Given the description of an element on the screen output the (x, y) to click on. 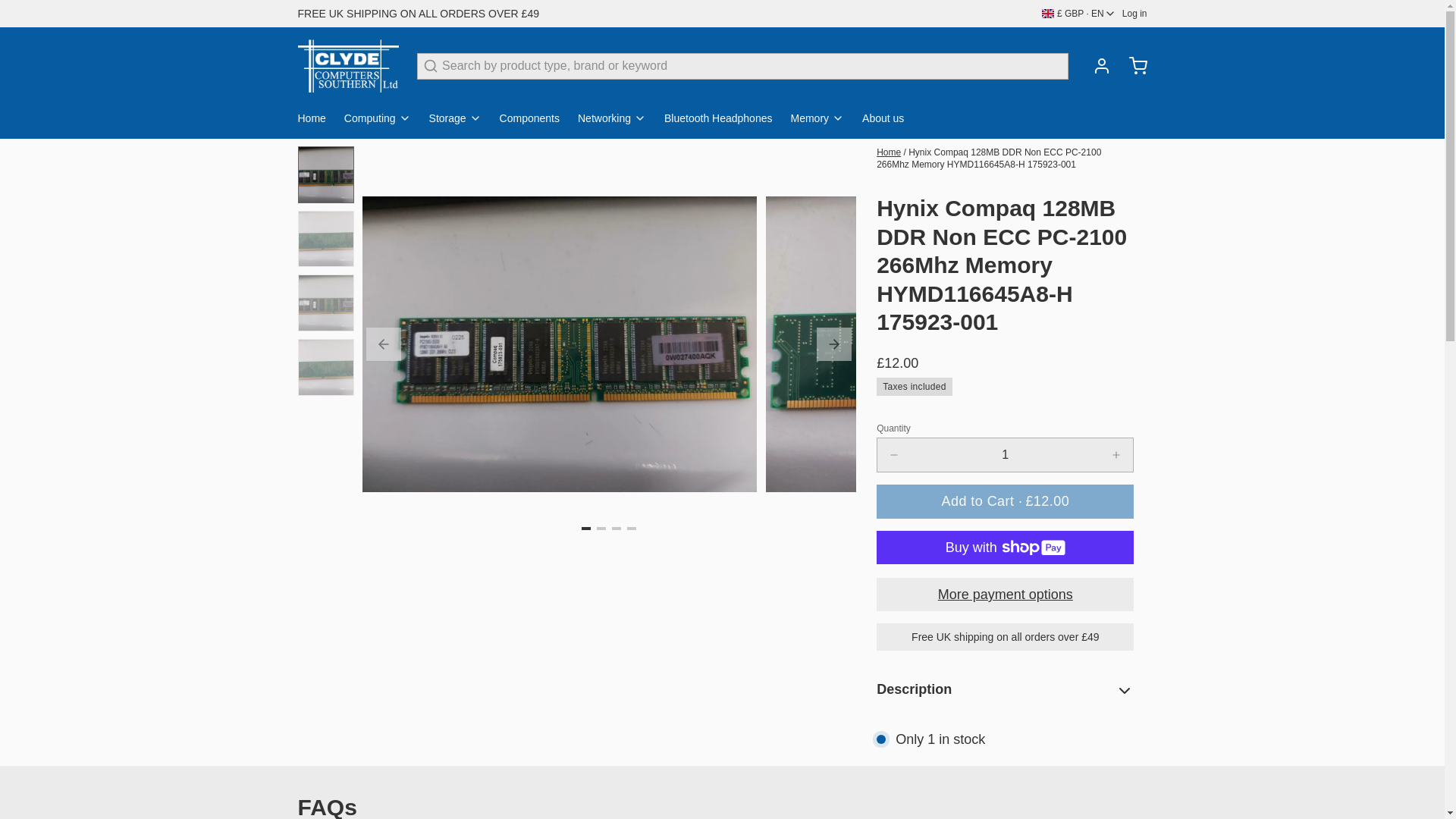
Next slide (833, 344)
PC User (347, 65)
Increase quantity (1115, 454)
Log in (1134, 13)
Storage (461, 121)
 Log in (1094, 65)
Home (317, 121)
Components (535, 121)
Home (888, 152)
Networking (618, 121)
Decrease quantity (894, 454)
Cart (1131, 65)
Computing (383, 121)
1 (1005, 454)
Previous slide (383, 344)
